Given the description of an element on the screen output the (x, y) to click on. 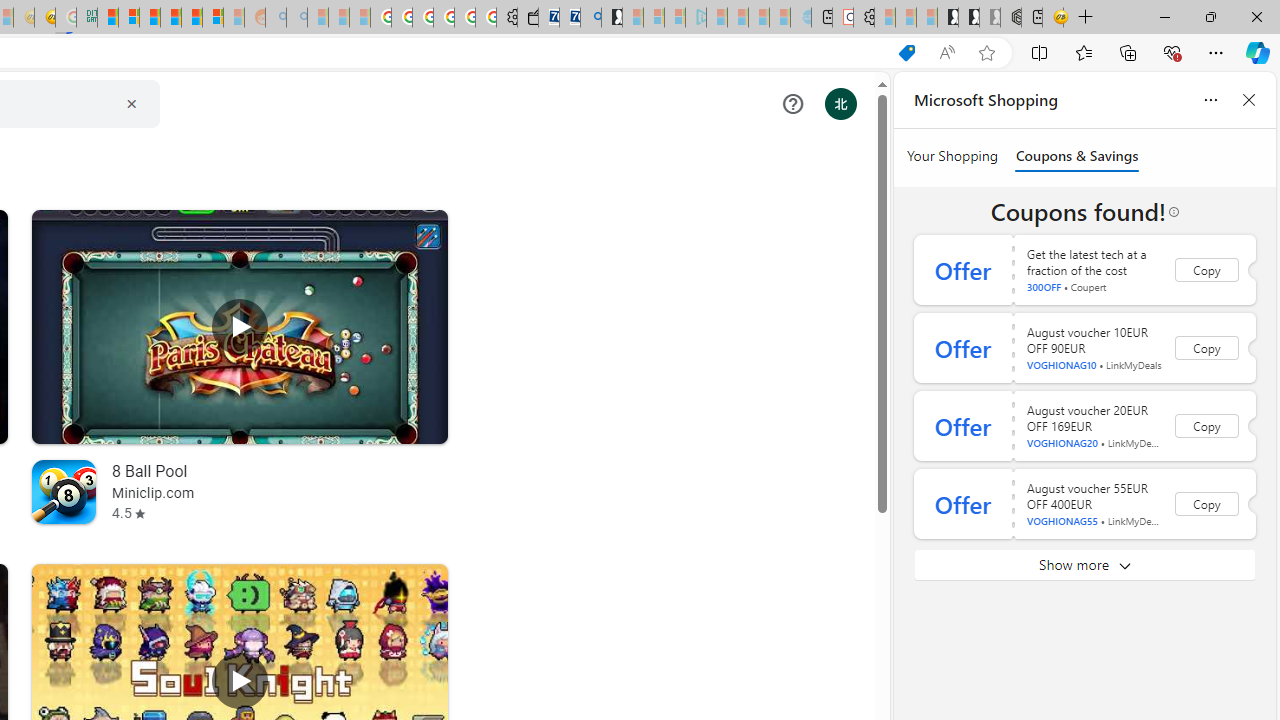
Browser essentials (1171, 52)
Split screen (1039, 52)
Play Free Online Games | Games from Microsoft Start (947, 17)
Help Center (792, 103)
Microsoft Start Gaming (611, 17)
Play Soul Knight (239, 681)
